Given the description of an element on the screen output the (x, y) to click on. 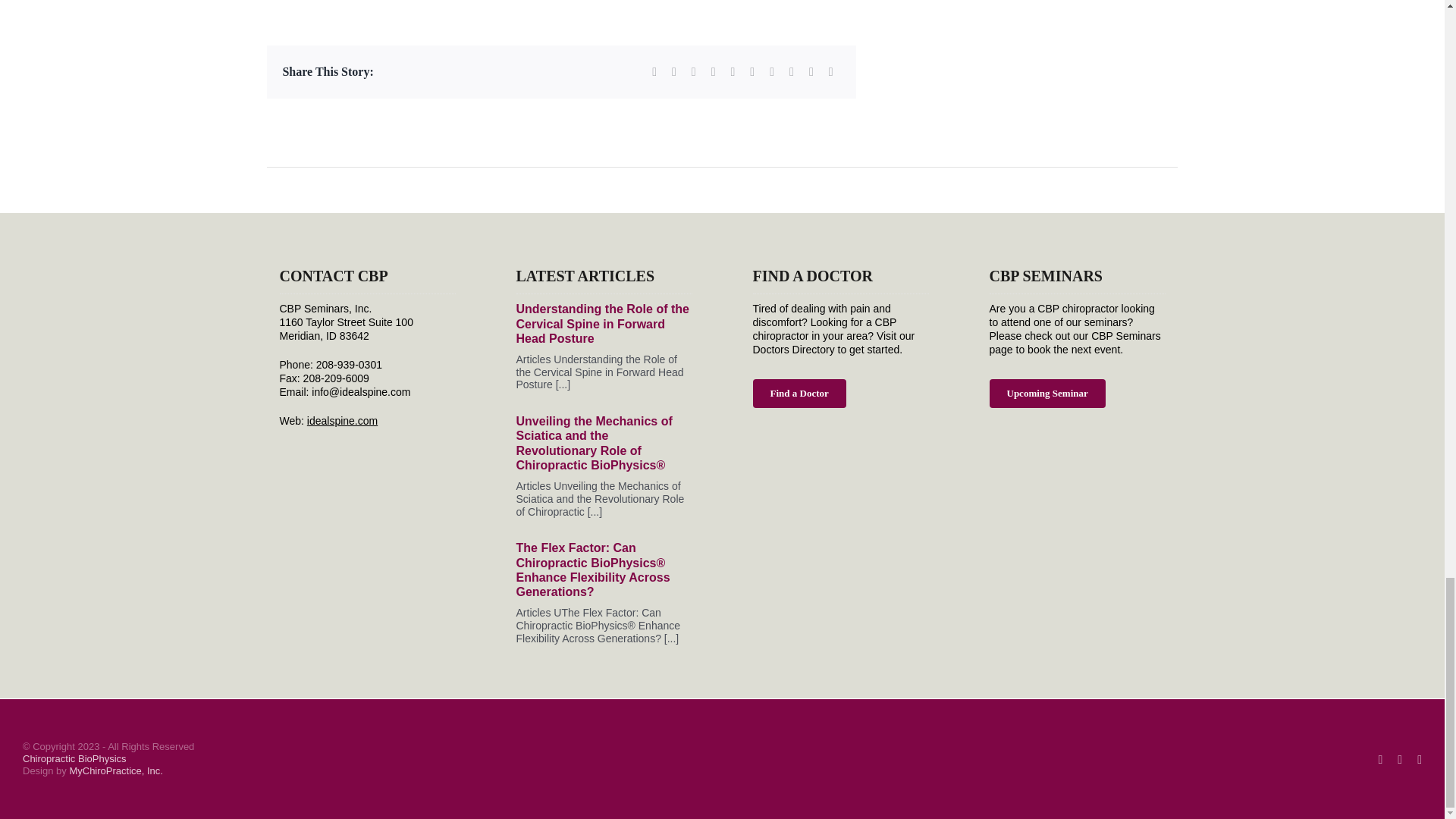
Pinterest (771, 72)
Reddit (693, 72)
Tumblr (751, 72)
X (673, 72)
Facebook (654, 72)
Email (831, 72)
Vk (791, 72)
LinkedIn (713, 72)
WhatsApp (732, 72)
Xing (811, 72)
